Given the description of an element on the screen output the (x, y) to click on. 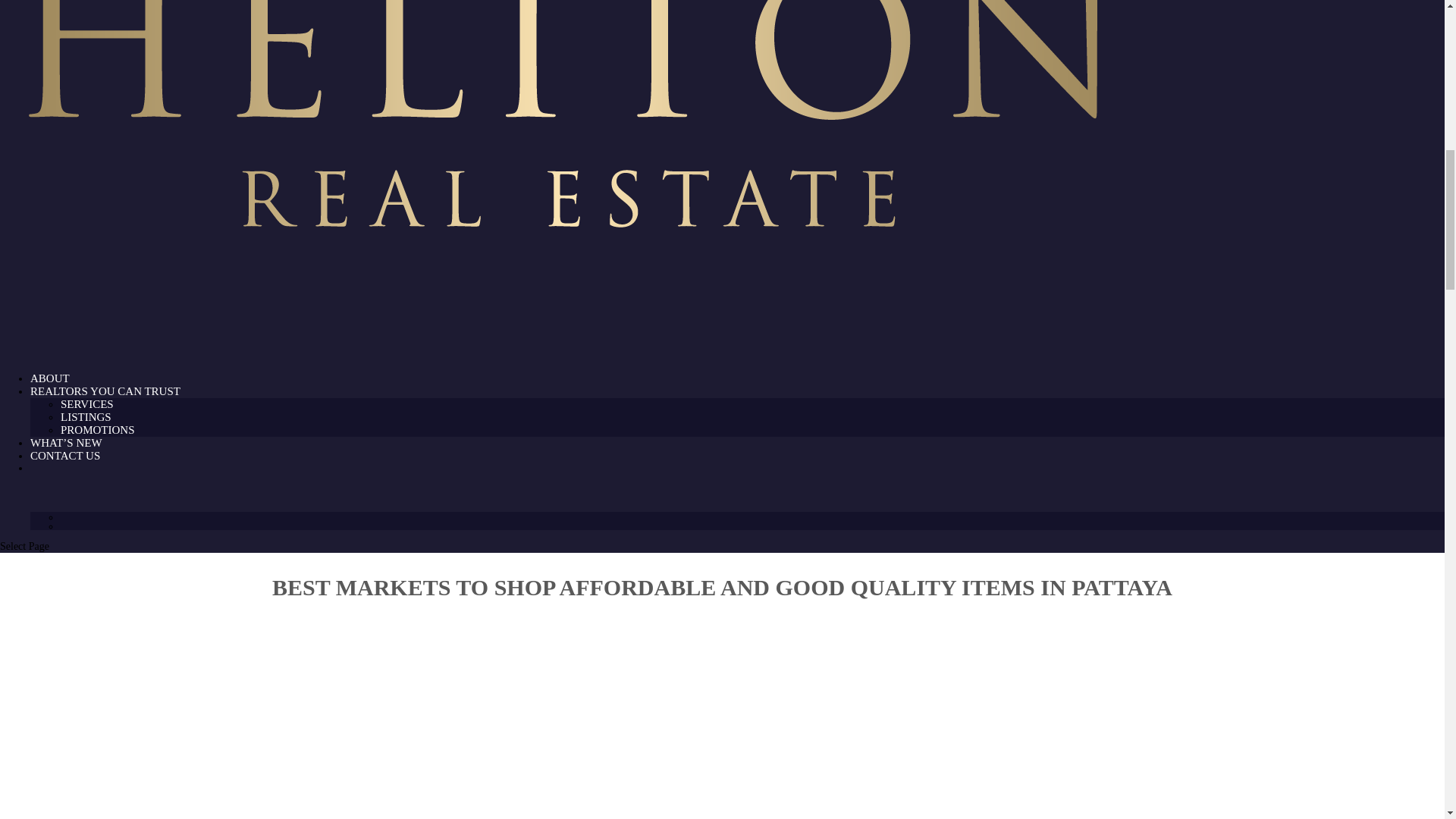
SERVICES (87, 404)
CONTACT US (65, 475)
REALTORS YOU CAN TRUST (105, 410)
LISTINGS (86, 417)
PROMOTIONS (98, 429)
